Given the description of an element on the screen output the (x, y) to click on. 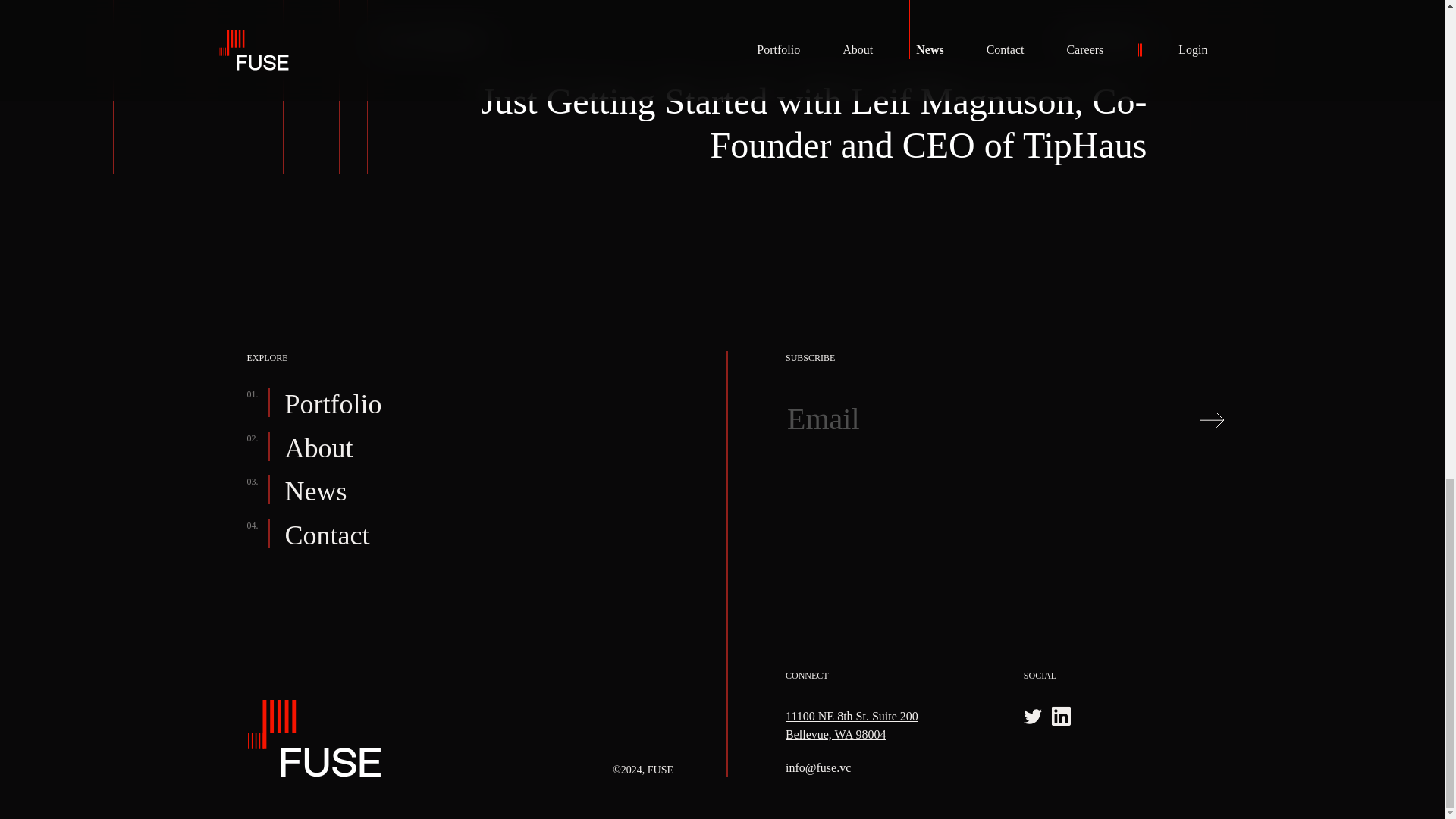
Contact (327, 535)
About (319, 449)
Portfolio (333, 404)
News (316, 491)
